Given the description of an element on the screen output the (x, y) to click on. 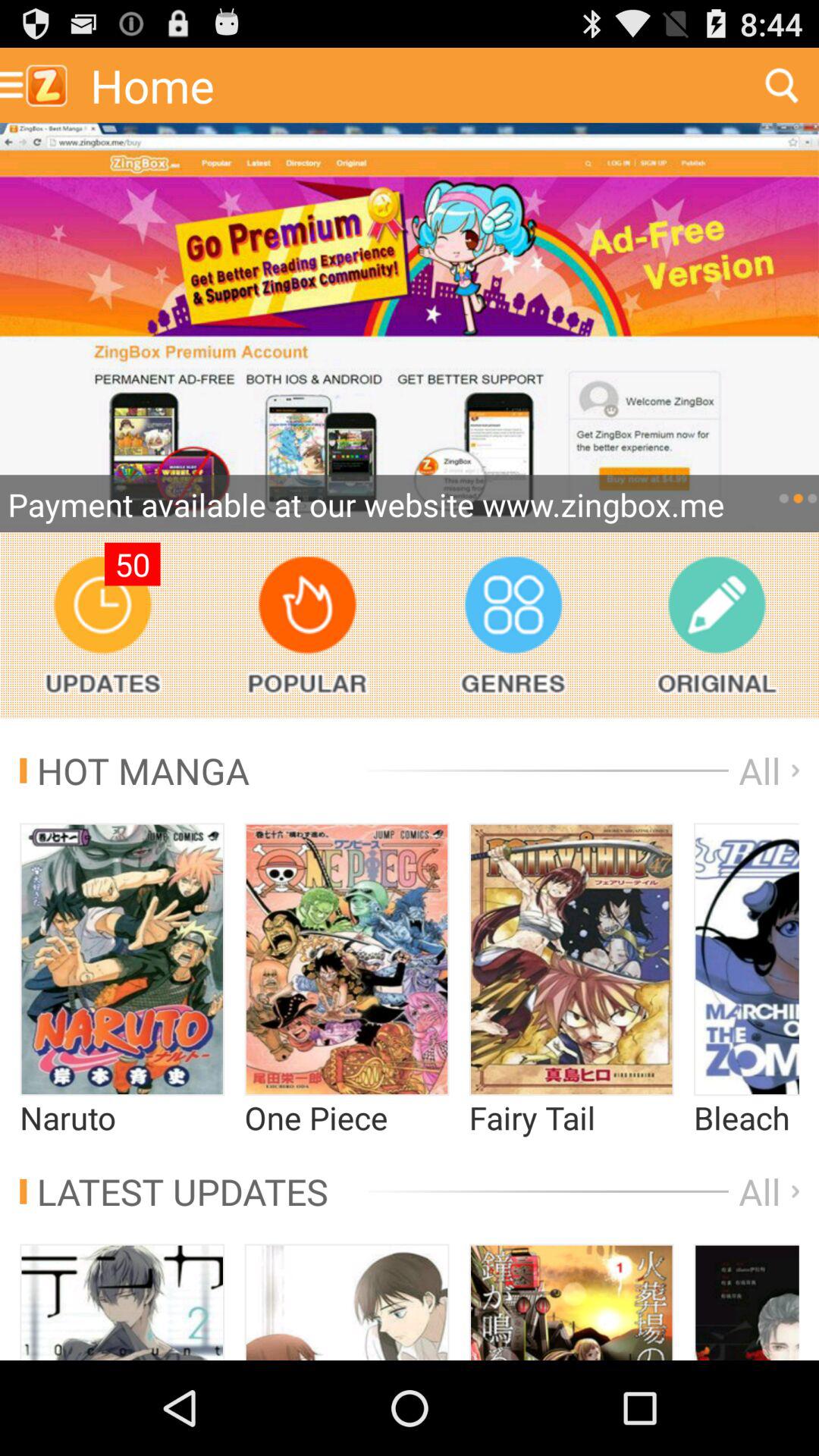
popular (306, 625)
